Given the description of an element on the screen output the (x, y) to click on. 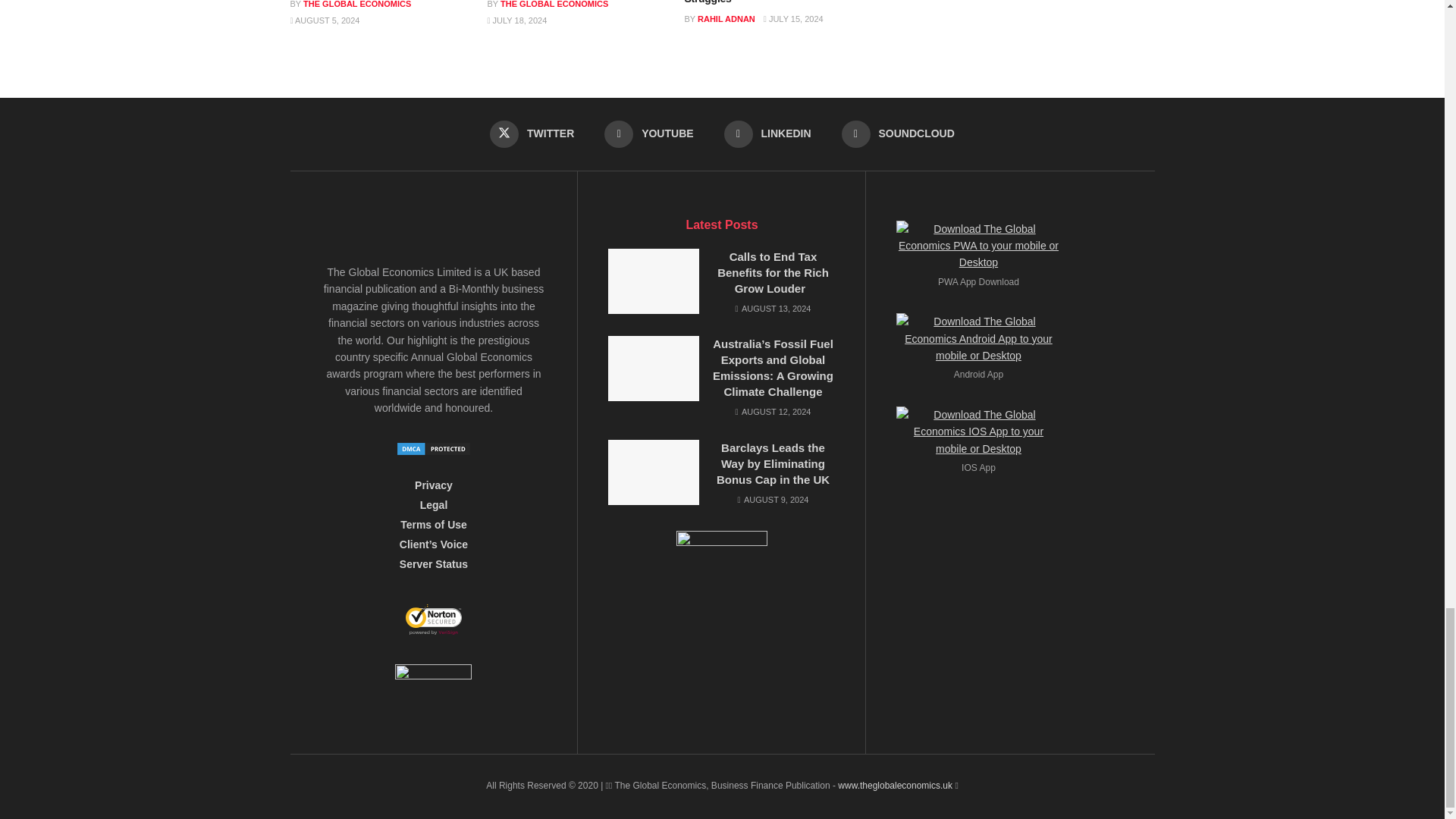
DMCA.com Protection Status (433, 448)
The Global Economics UK (895, 785)
Norton Verified (433, 623)
